Given the description of an element on the screen output the (x, y) to click on. 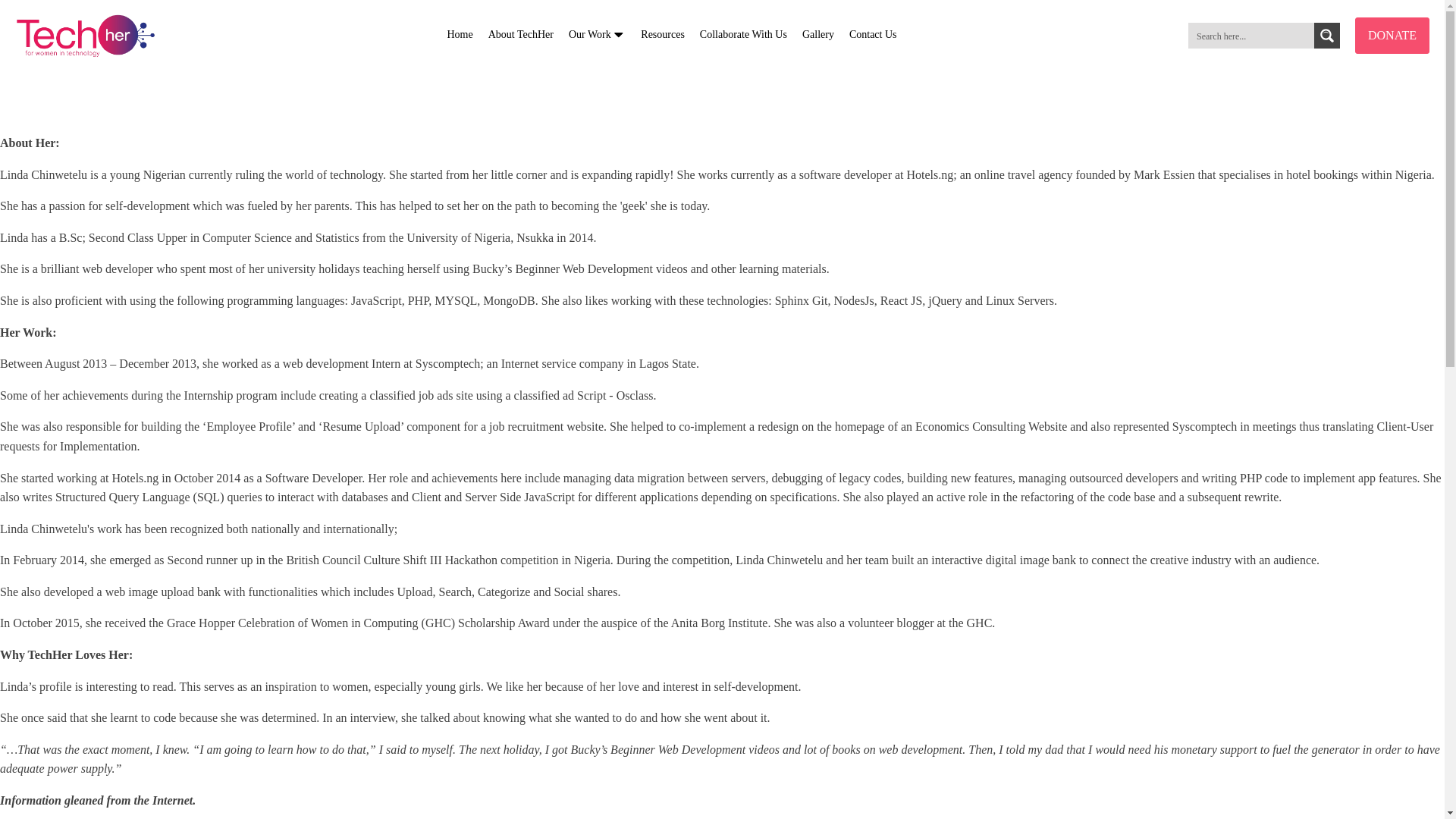
About TechHer (520, 35)
DONATE (1392, 35)
Resources (663, 35)
Our Work (596, 35)
Collaborate With Us (743, 35)
Contact Us (872, 35)
